Given the description of an element on the screen output the (x, y) to click on. 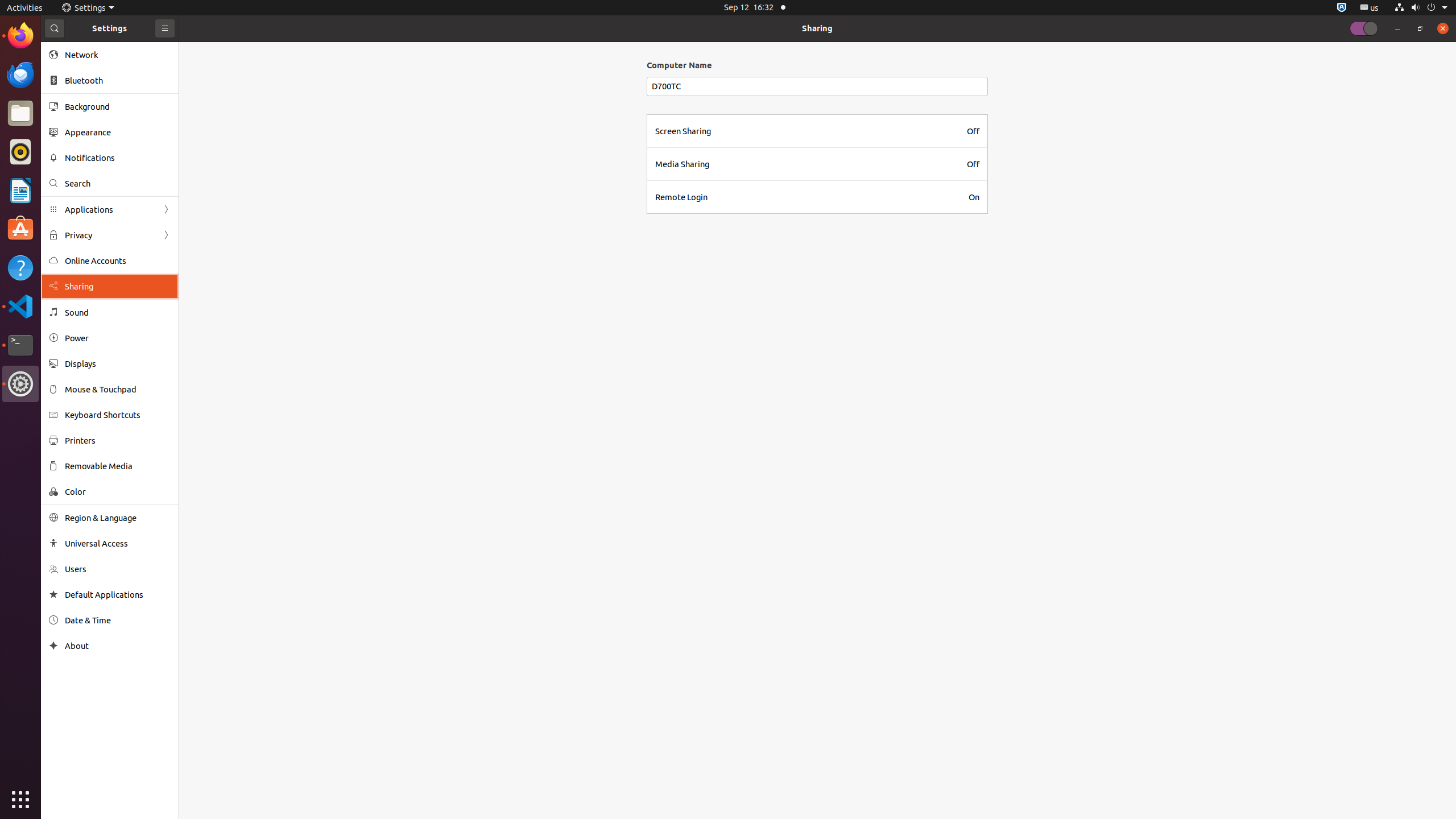
Bluetooth Element type: label (117, 80)
